Given the description of an element on the screen output the (x, y) to click on. 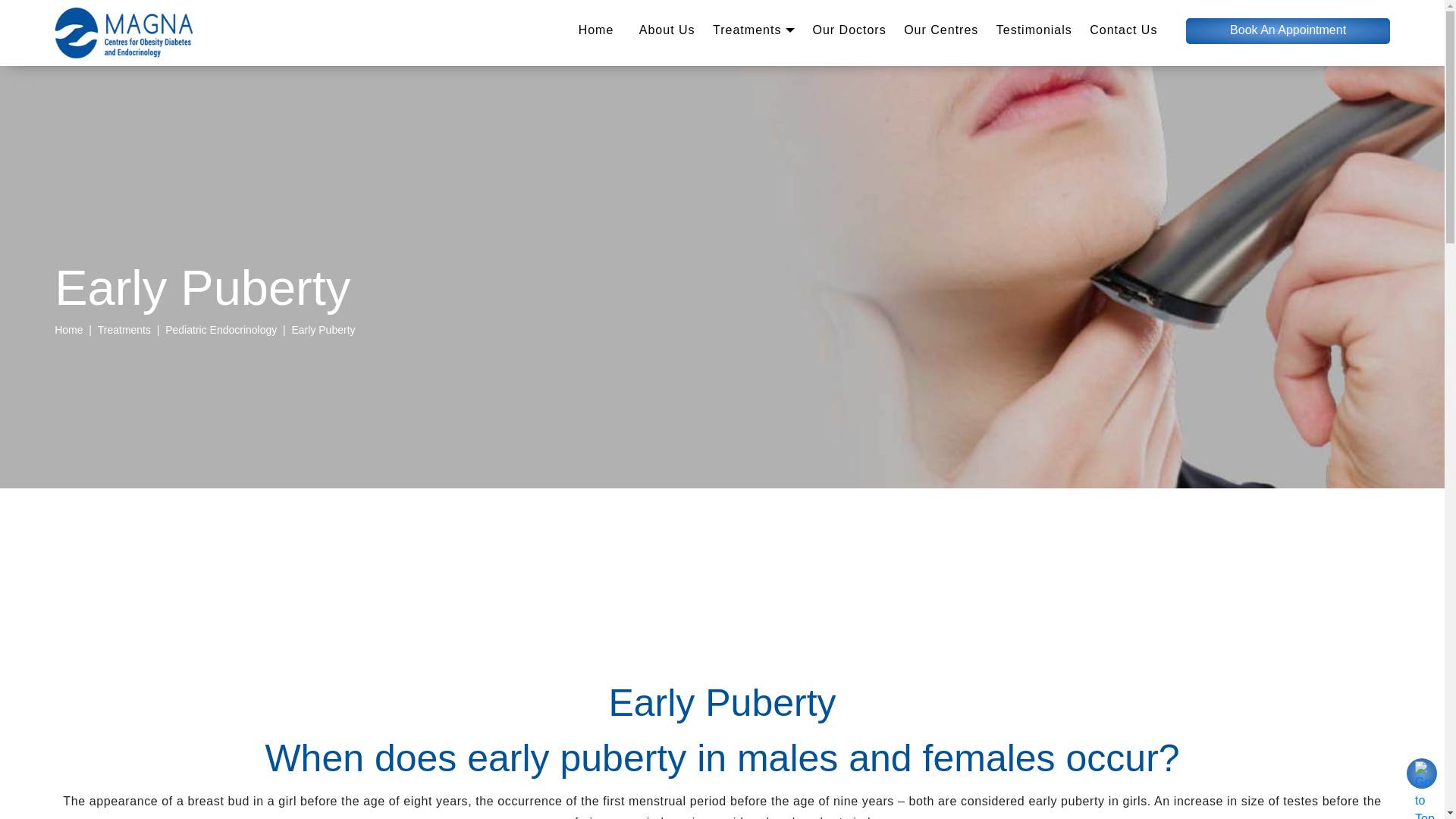
About Us (667, 36)
Treatments (753, 36)
